Given the description of an element on the screen output the (x, y) to click on. 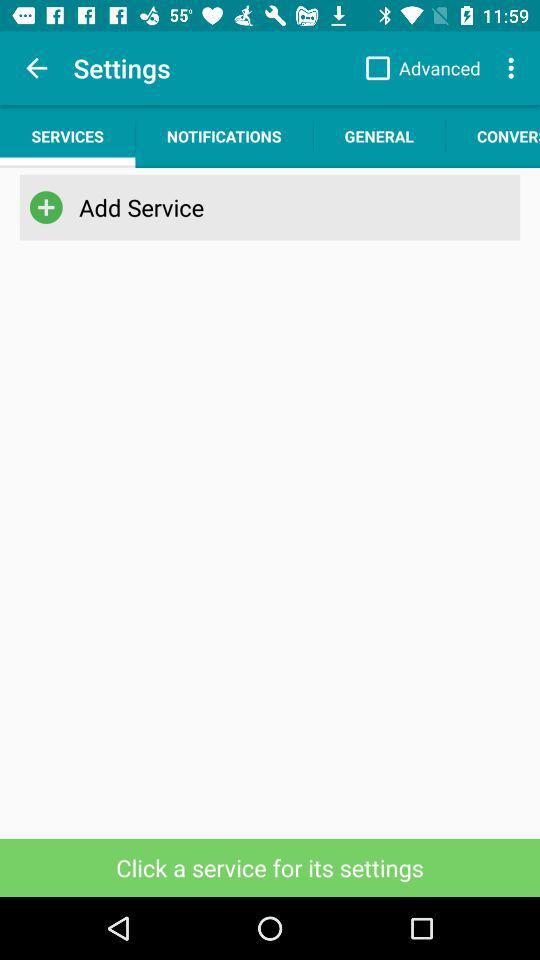
tap item next to add service app (46, 207)
